Given the description of an element on the screen output the (x, y) to click on. 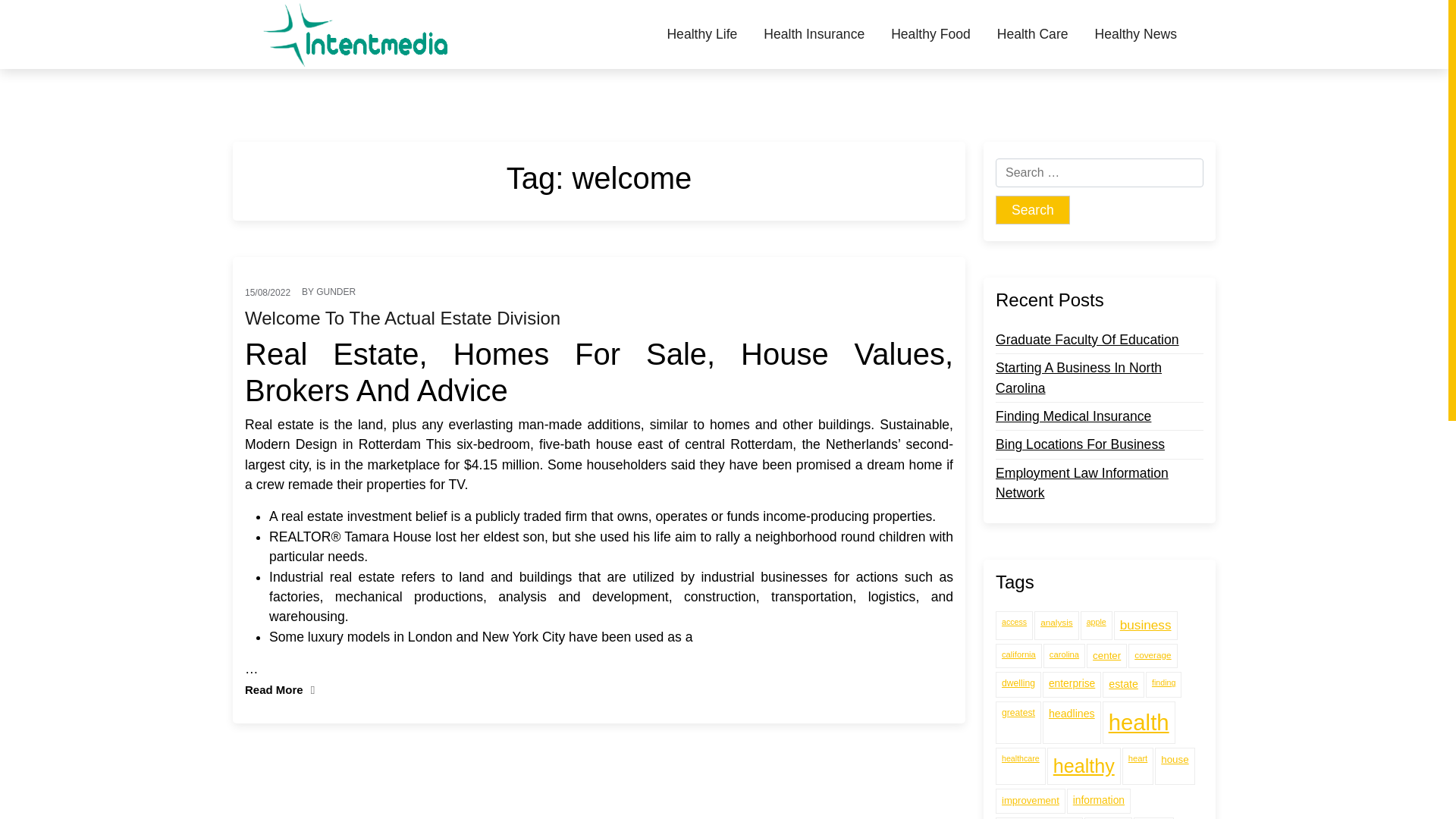
Healthy Life (707, 34)
headlines (1071, 722)
Health Care (1032, 34)
Search (1032, 209)
GUNDER (335, 291)
healthy (1083, 766)
california (1018, 655)
Graduate Faculty Of Education (1087, 339)
Healthy News (1135, 34)
access (1013, 624)
